Given the description of an element on the screen output the (x, y) to click on. 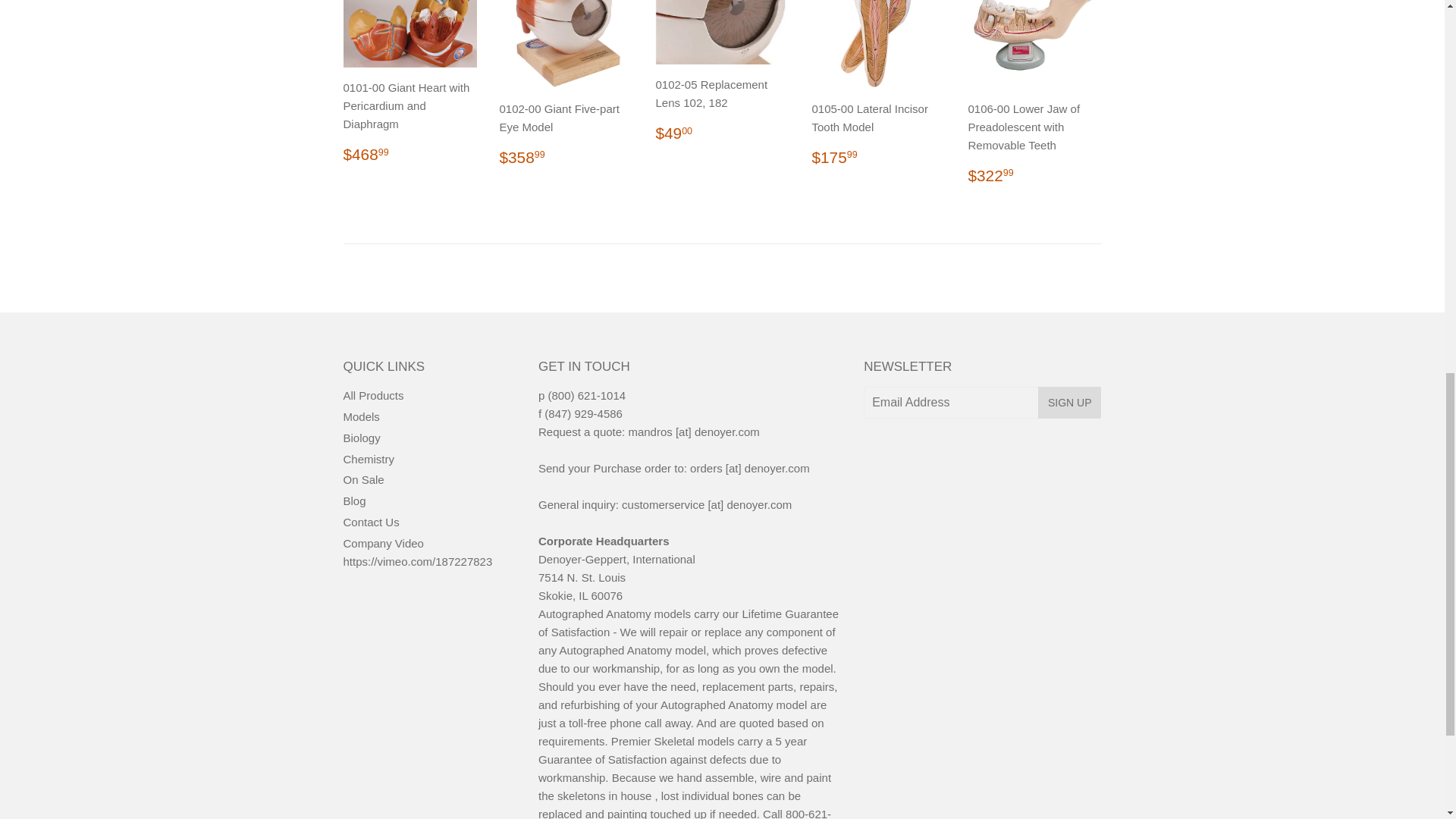
Sign Up (1070, 402)
